Given the description of an element on the screen output the (x, y) to click on. 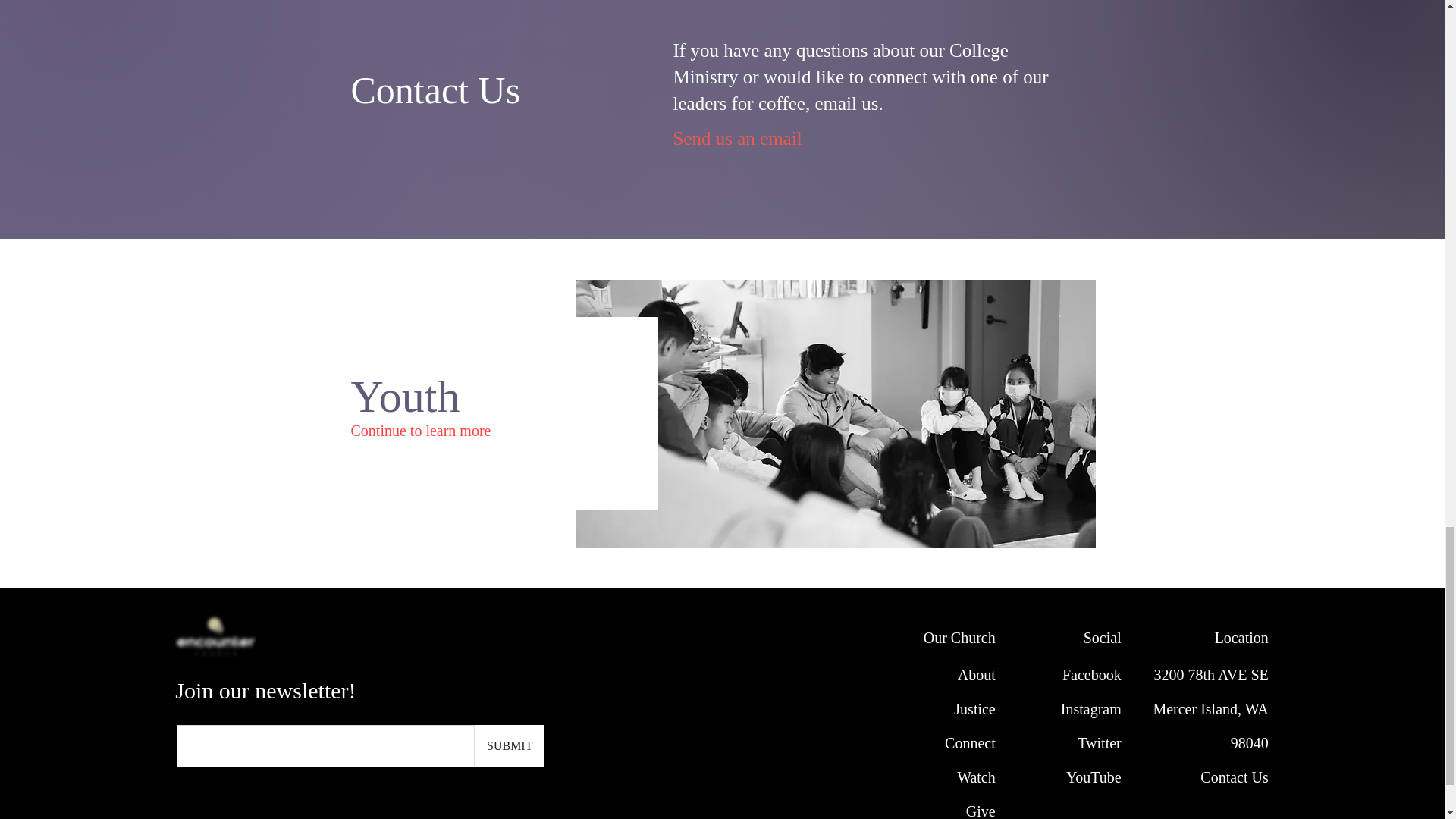
Watch (975, 777)
YouTube (1093, 777)
Justice (973, 709)
Send us an email  (739, 137)
Facebook (1091, 674)
Instagram (1091, 709)
Continue to learn more (420, 425)
Give (980, 811)
SUBMIT (509, 745)
About (976, 674)
